Given the description of an element on the screen output the (x, y) to click on. 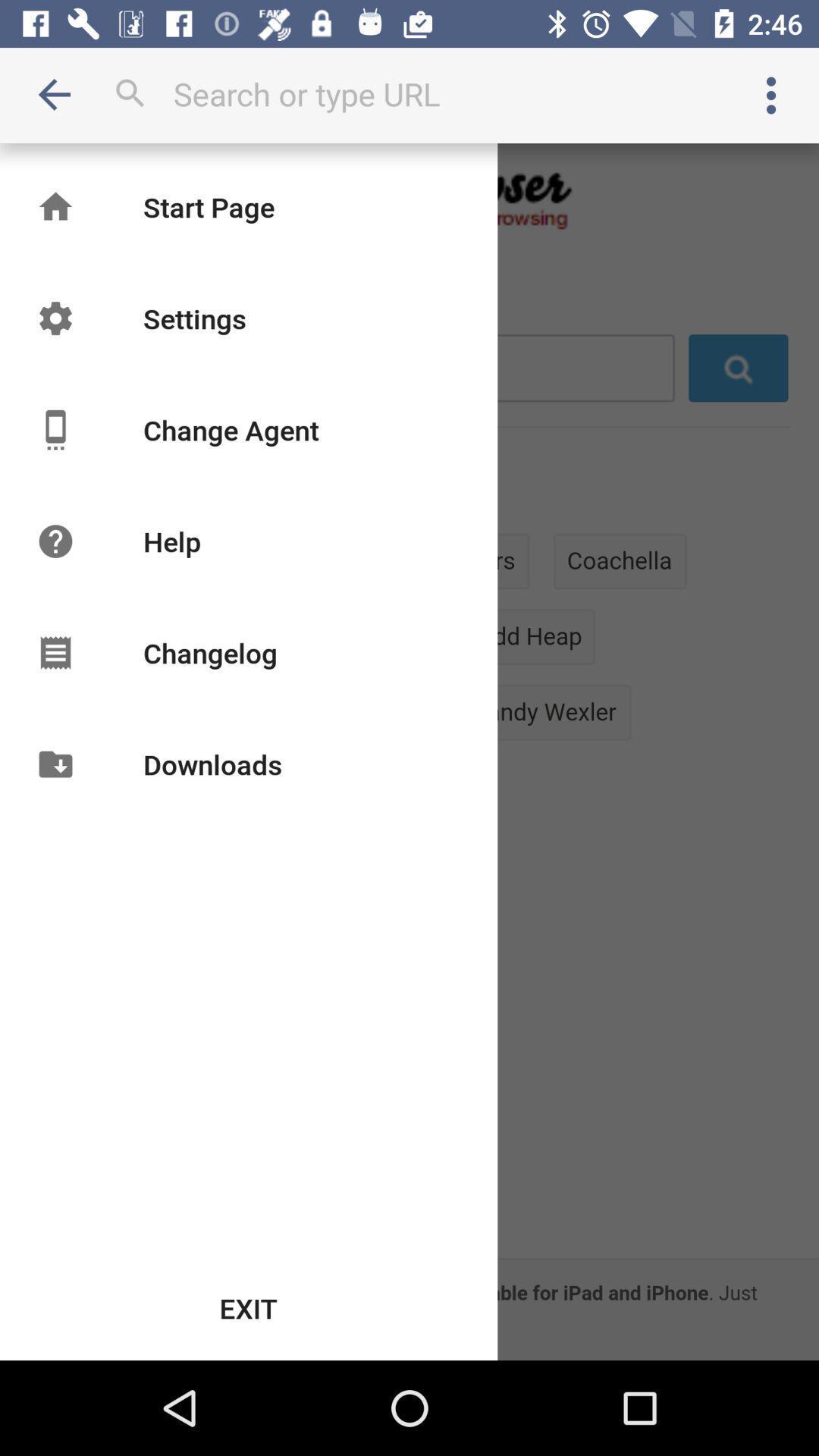
search box (409, 94)
